Given the description of an element on the screen output the (x, y) to click on. 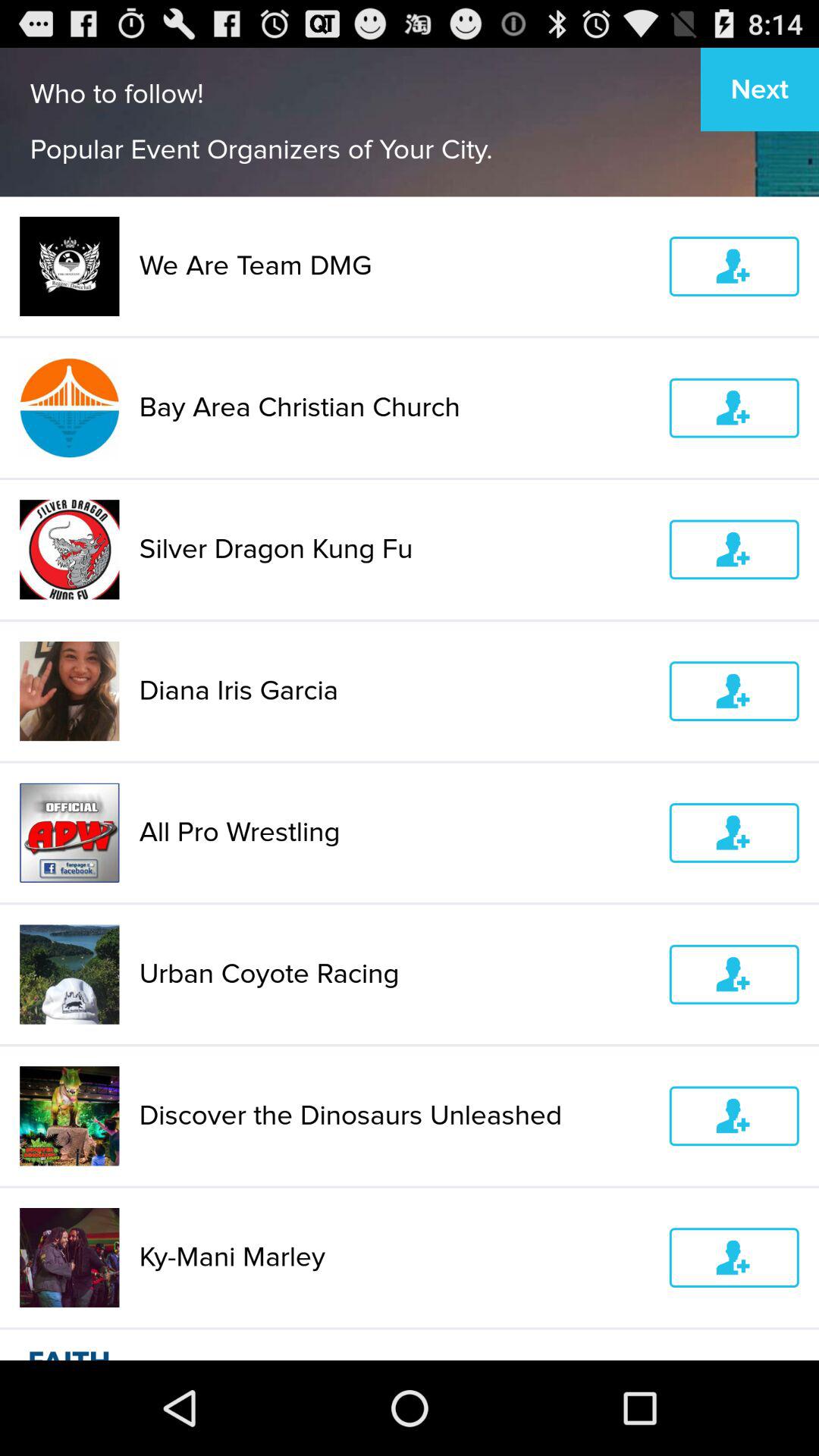
choose the bay area christian item (394, 407)
